Given the description of an element on the screen output the (x, y) to click on. 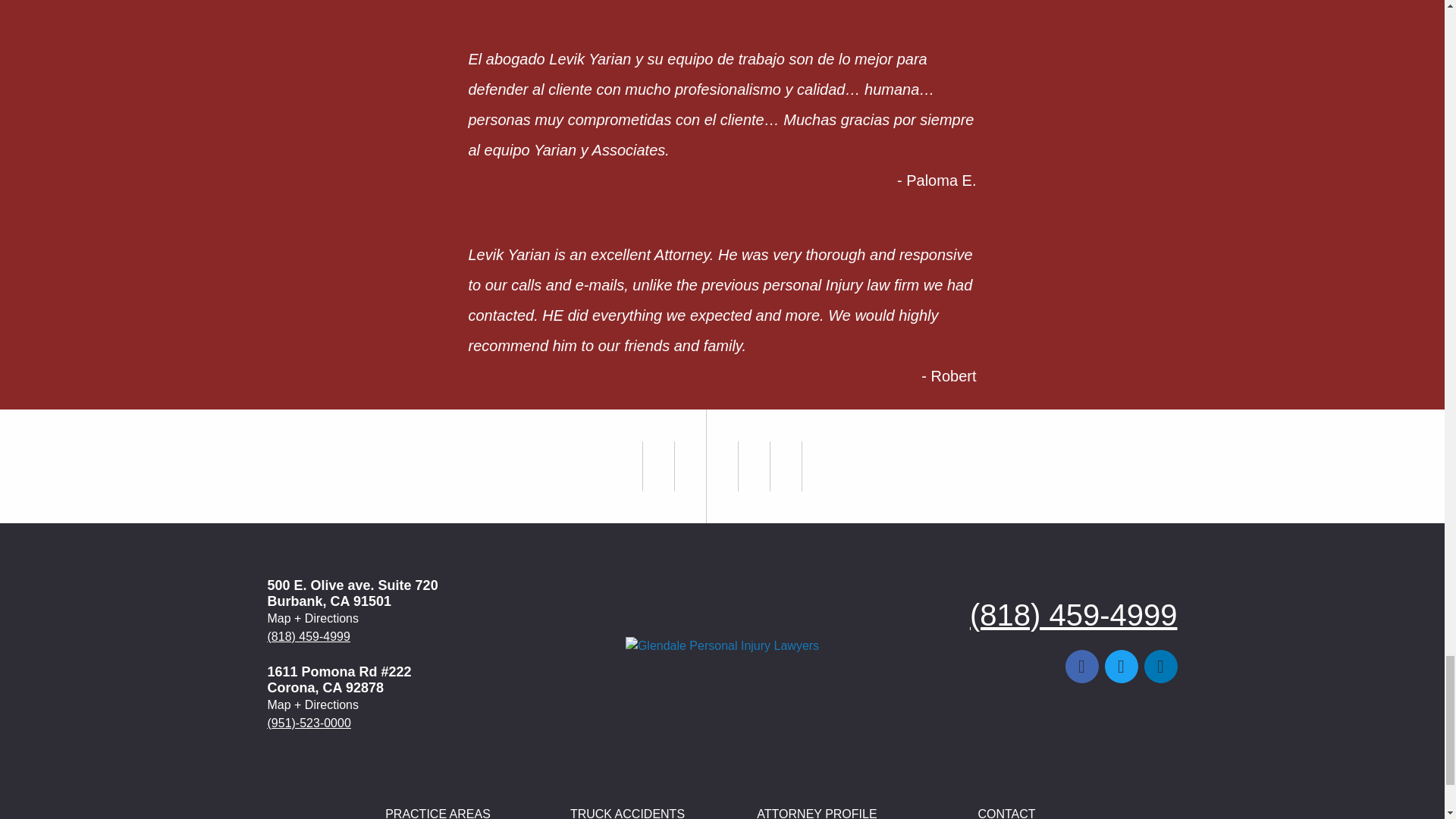
Glendale Personal Injury Law Firm (722, 646)
